Given the description of an element on the screen output the (x, y) to click on. 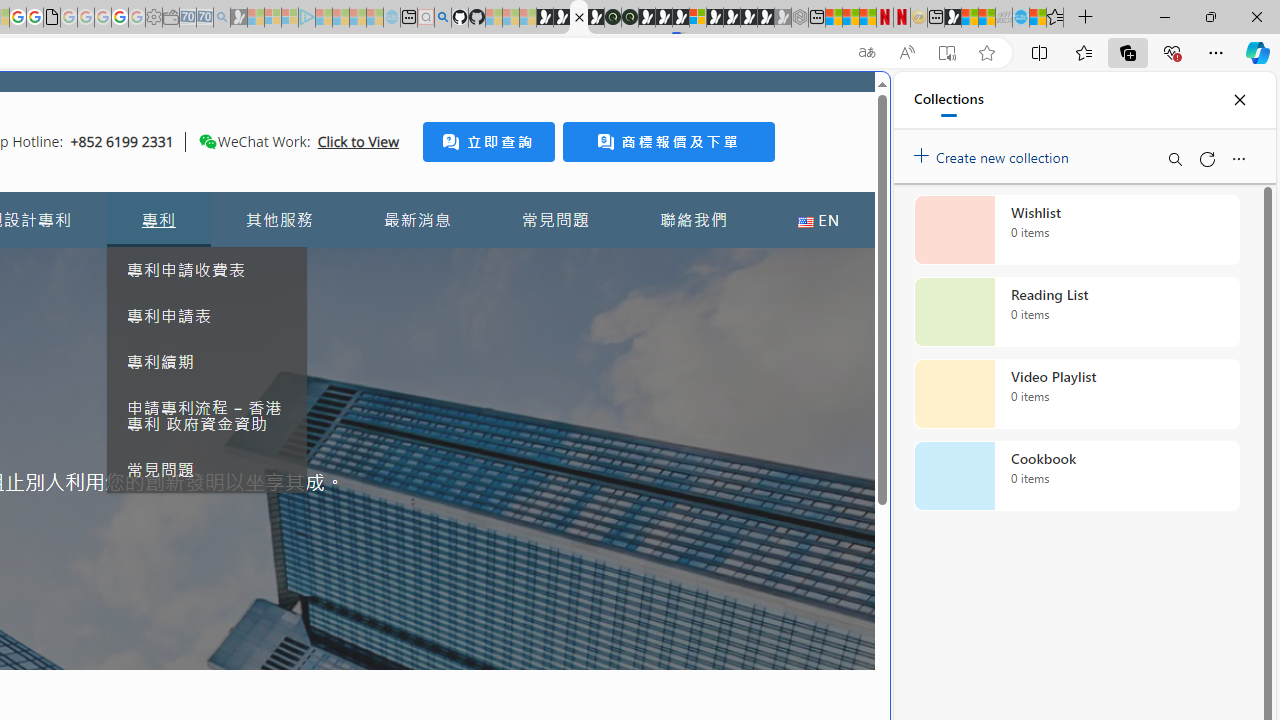
Earth has six continents not seven, radical new study claims (986, 17)
Create new collection (994, 153)
